Given the description of an element on the screen output the (x, y) to click on. 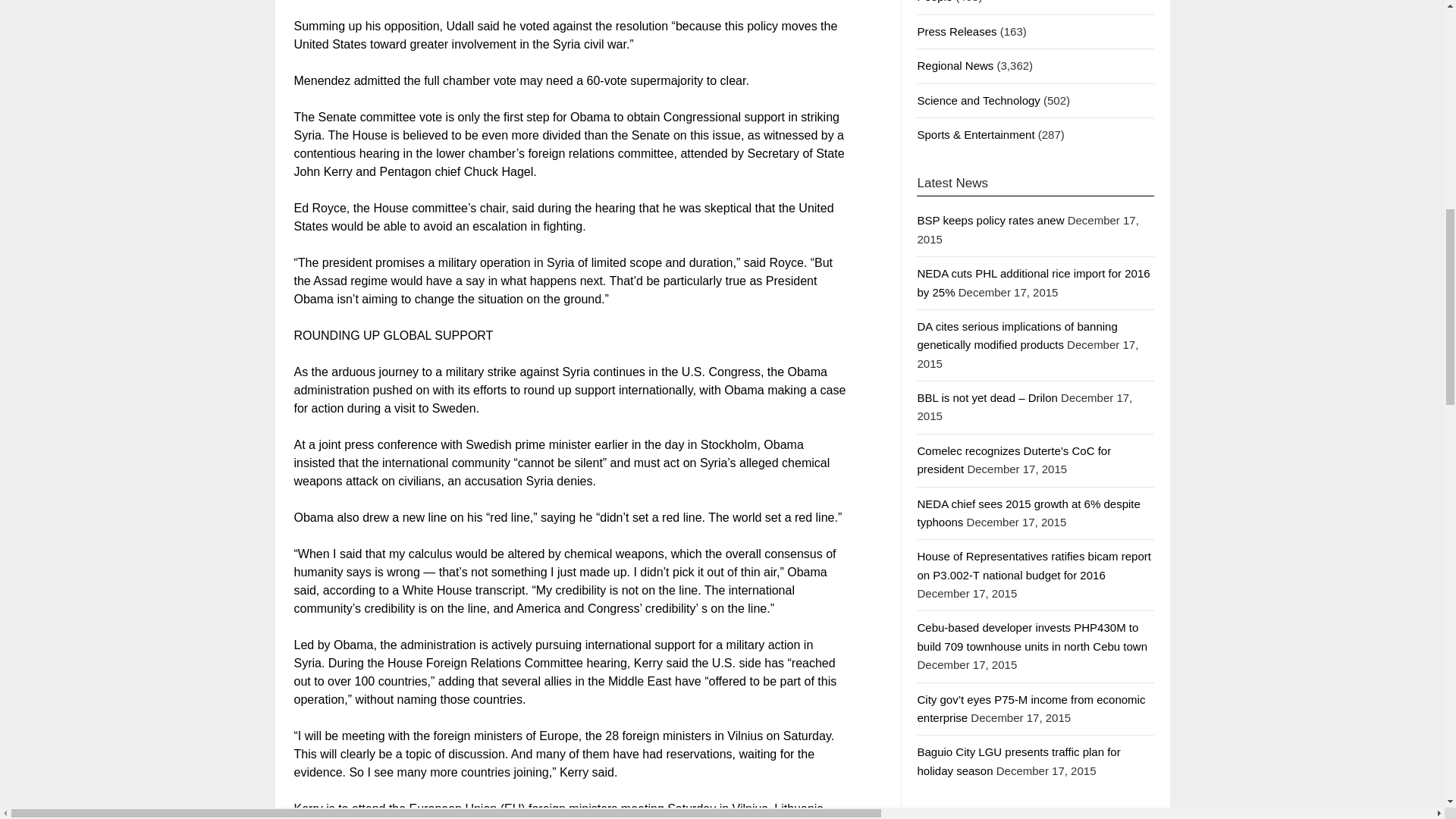
Science and Technology (978, 100)
Regional News (954, 65)
Press Releases (956, 31)
People (934, 1)
BSP keeps policy rates anew (990, 219)
